Given the description of an element on the screen output the (x, y) to click on. 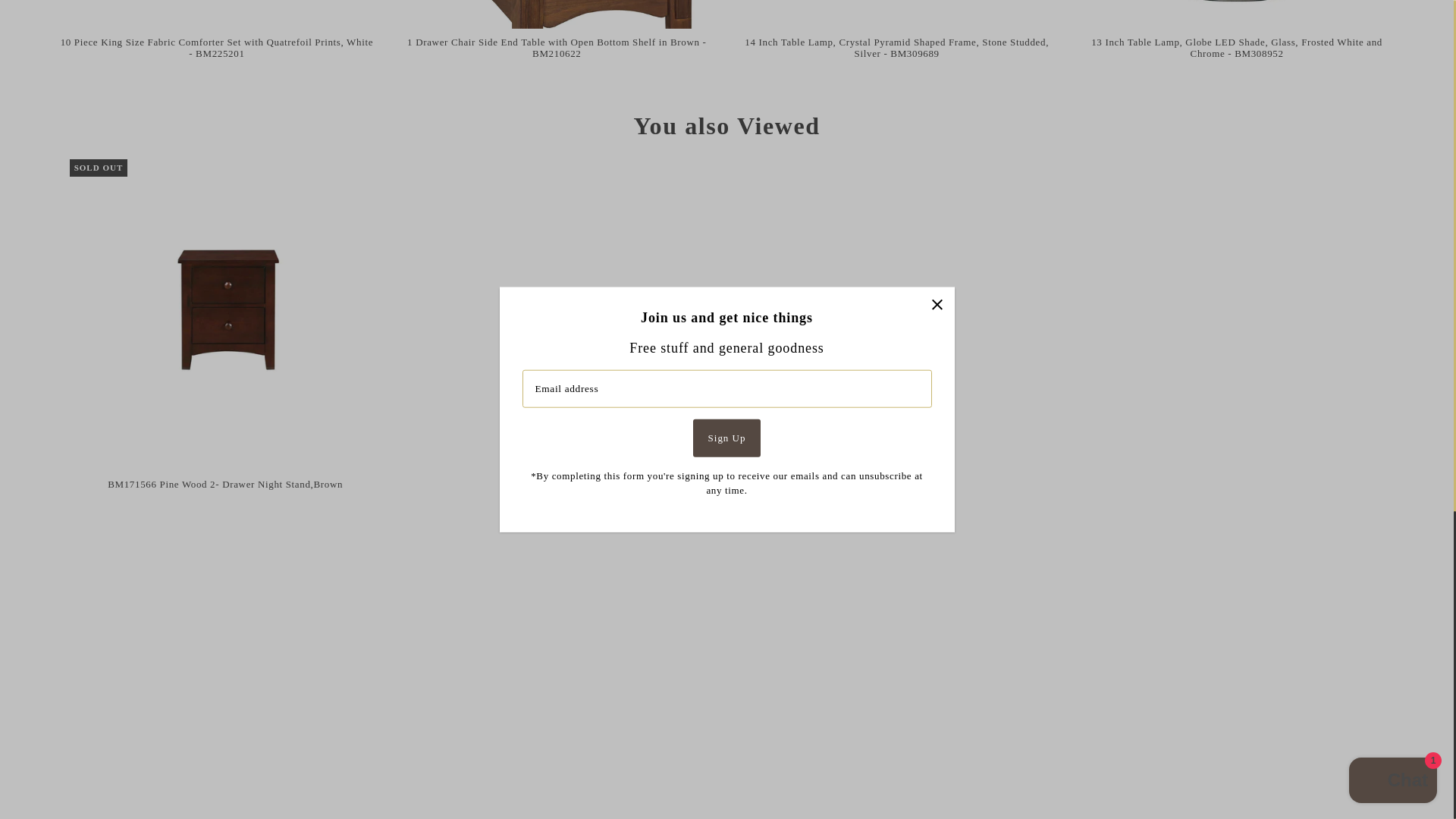
BM171566 Pine Wood 2- Drawer Night Stand,Brown (225, 314)
